Given the description of an element on the screen output the (x, y) to click on. 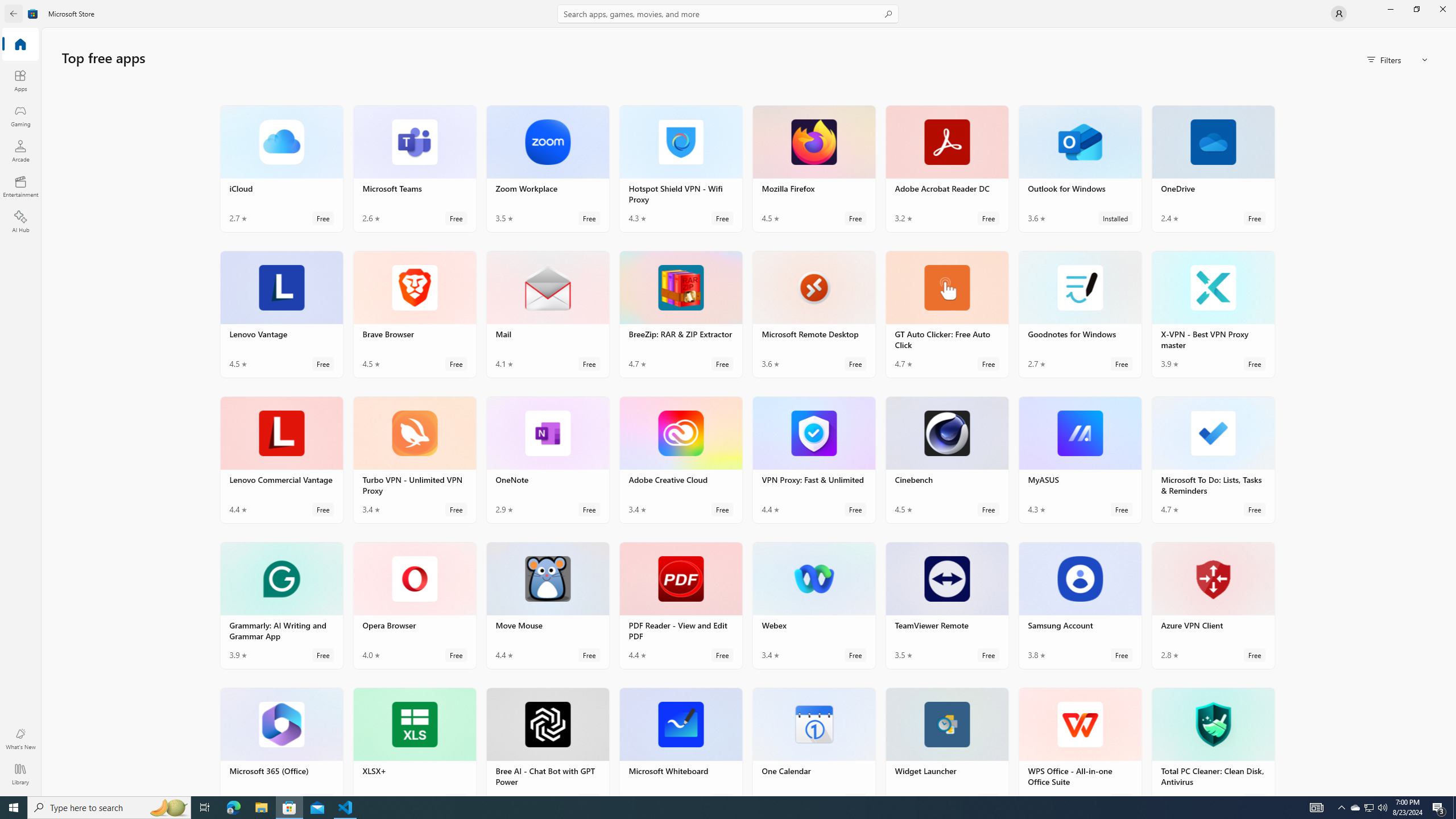
XLSX+. Average rating of 4.6 out of five stars. Free   (414, 741)
